Given the description of an element on the screen output the (x, y) to click on. 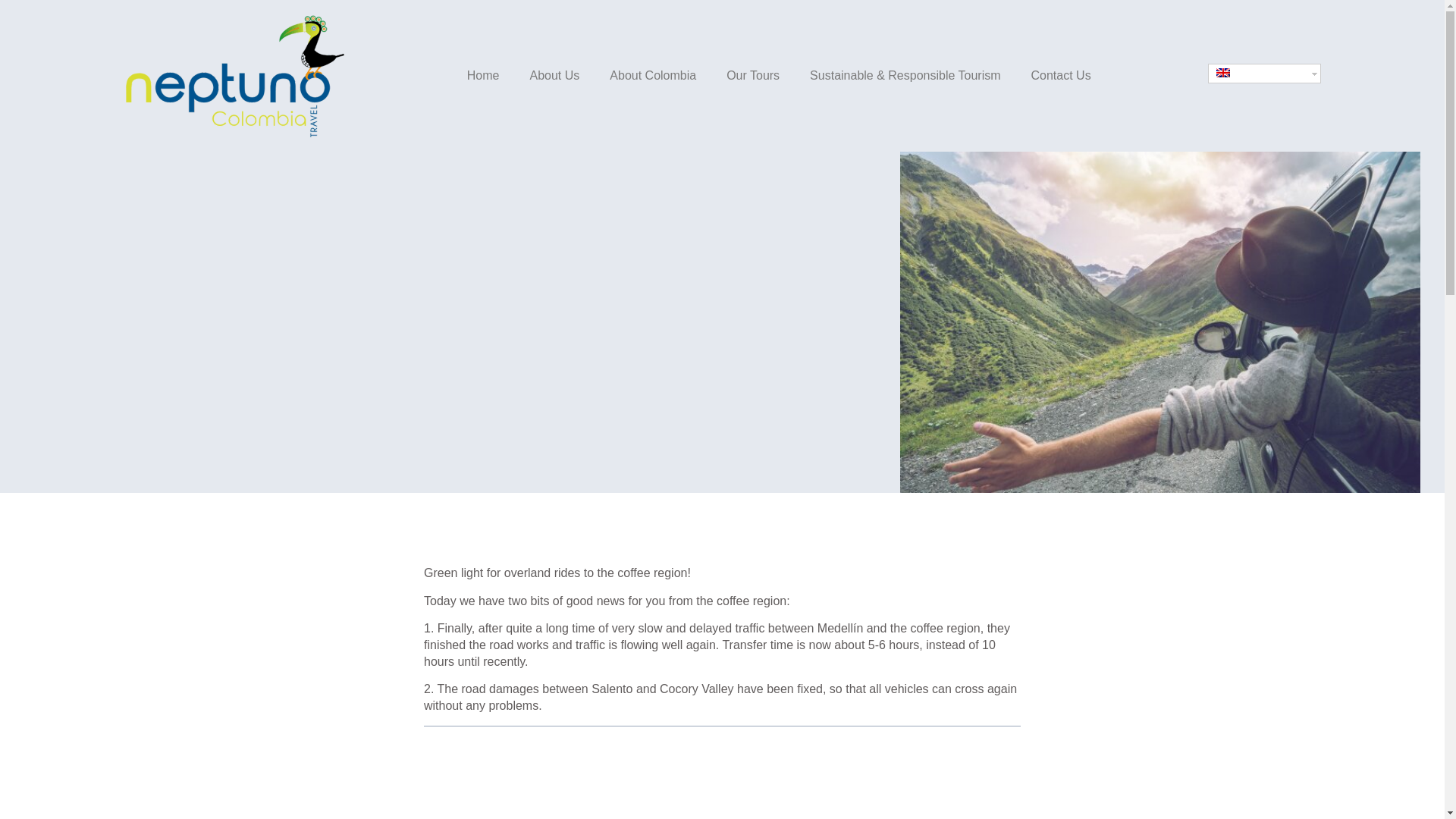
English (1222, 71)
Contact Us (1061, 75)
About Us (553, 75)
Our Tours (752, 75)
Home (483, 75)
About Colombia (652, 75)
